Given the description of an element on the screen output the (x, y) to click on. 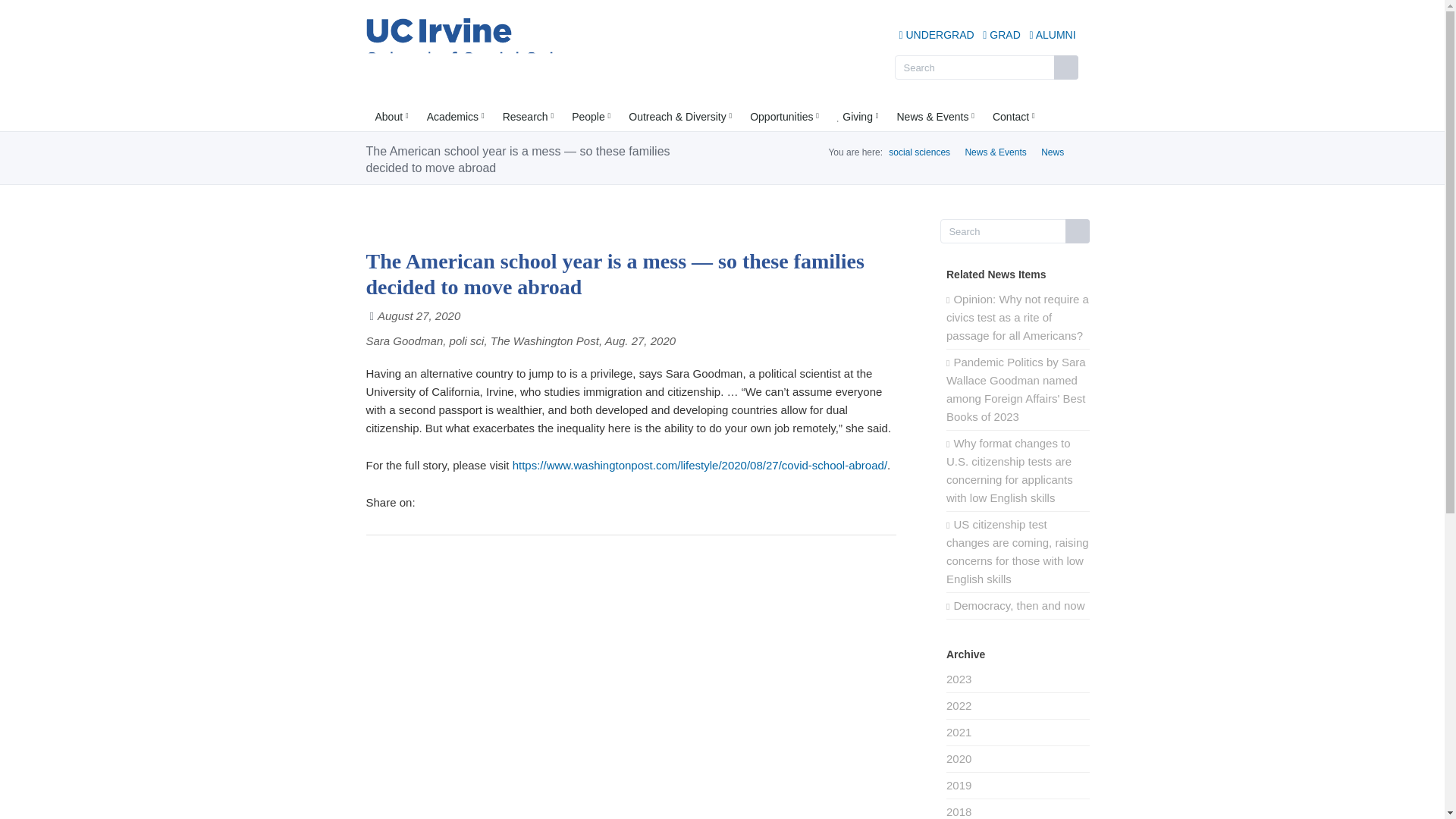
People  (591, 116)
Democracy, then and now (1017, 606)
Search (986, 67)
Search (1014, 231)
  GRAD  (1001, 34)
Search (1014, 231)
Academics  (455, 116)
